Given the description of an element on the screen output the (x, y) to click on. 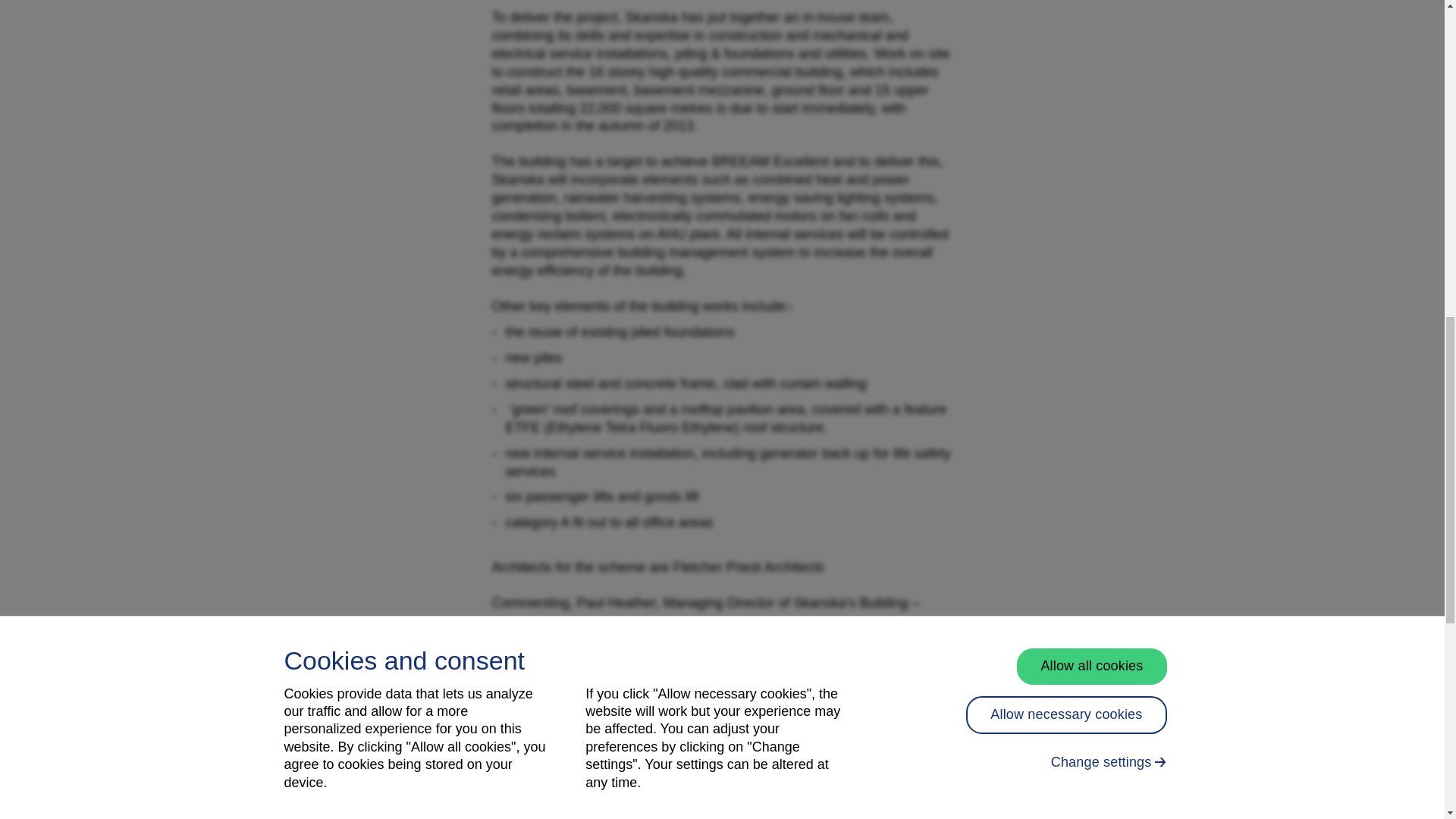
Back to top (1366, 30)
